Given the description of an element on the screen output the (x, y) to click on. 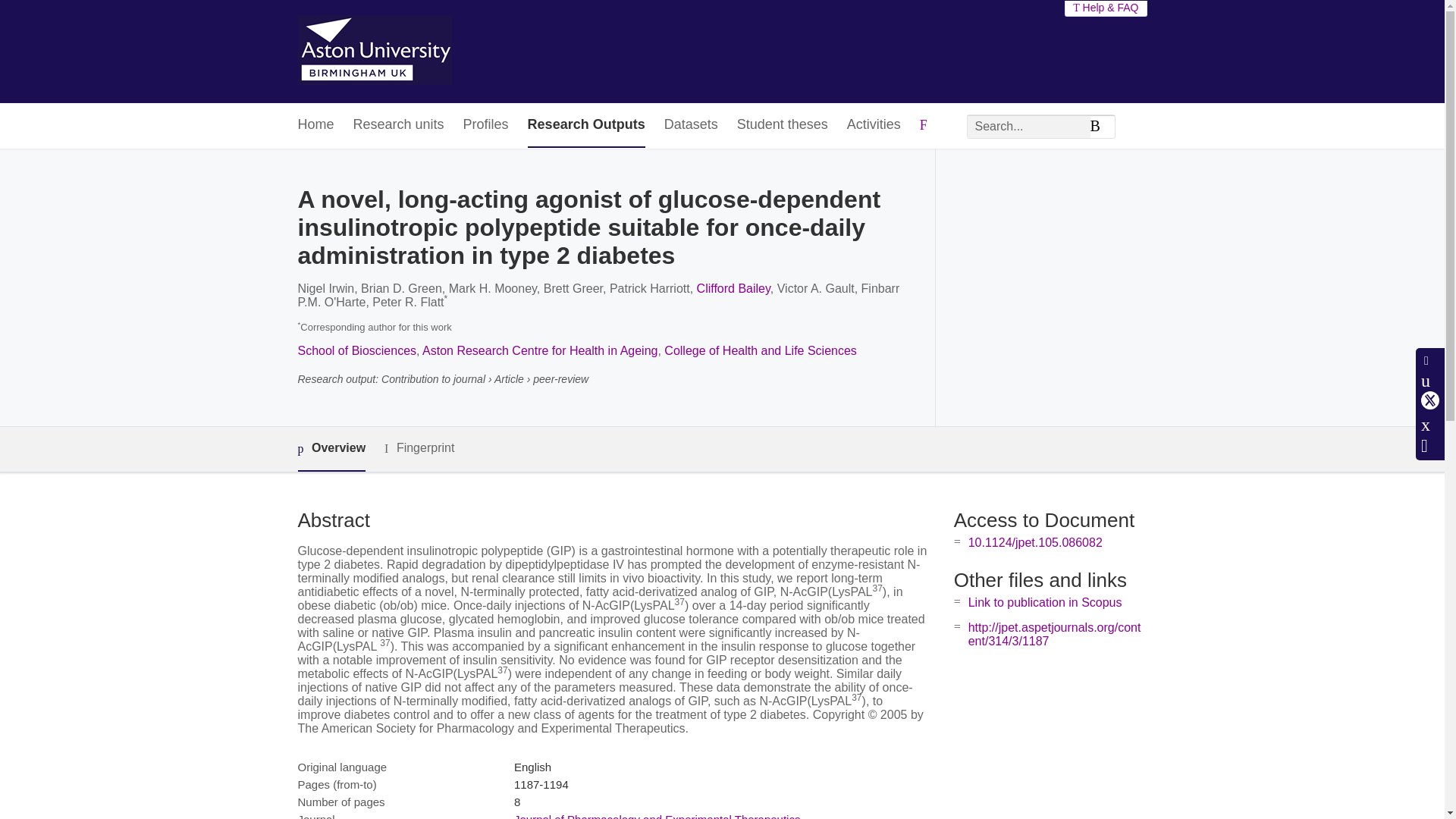
Datasets (690, 125)
Clifford Bailey (733, 287)
Aston Research Explorer Home (374, 51)
Aston Research Centre for Health in Ageing (540, 350)
Student theses (782, 125)
Research units (398, 125)
Profiles (485, 125)
Link to publication in Scopus (1045, 602)
Journal of Pharmacology and Experimental Therapeutics (656, 816)
